Given the description of an element on the screen output the (x, y) to click on. 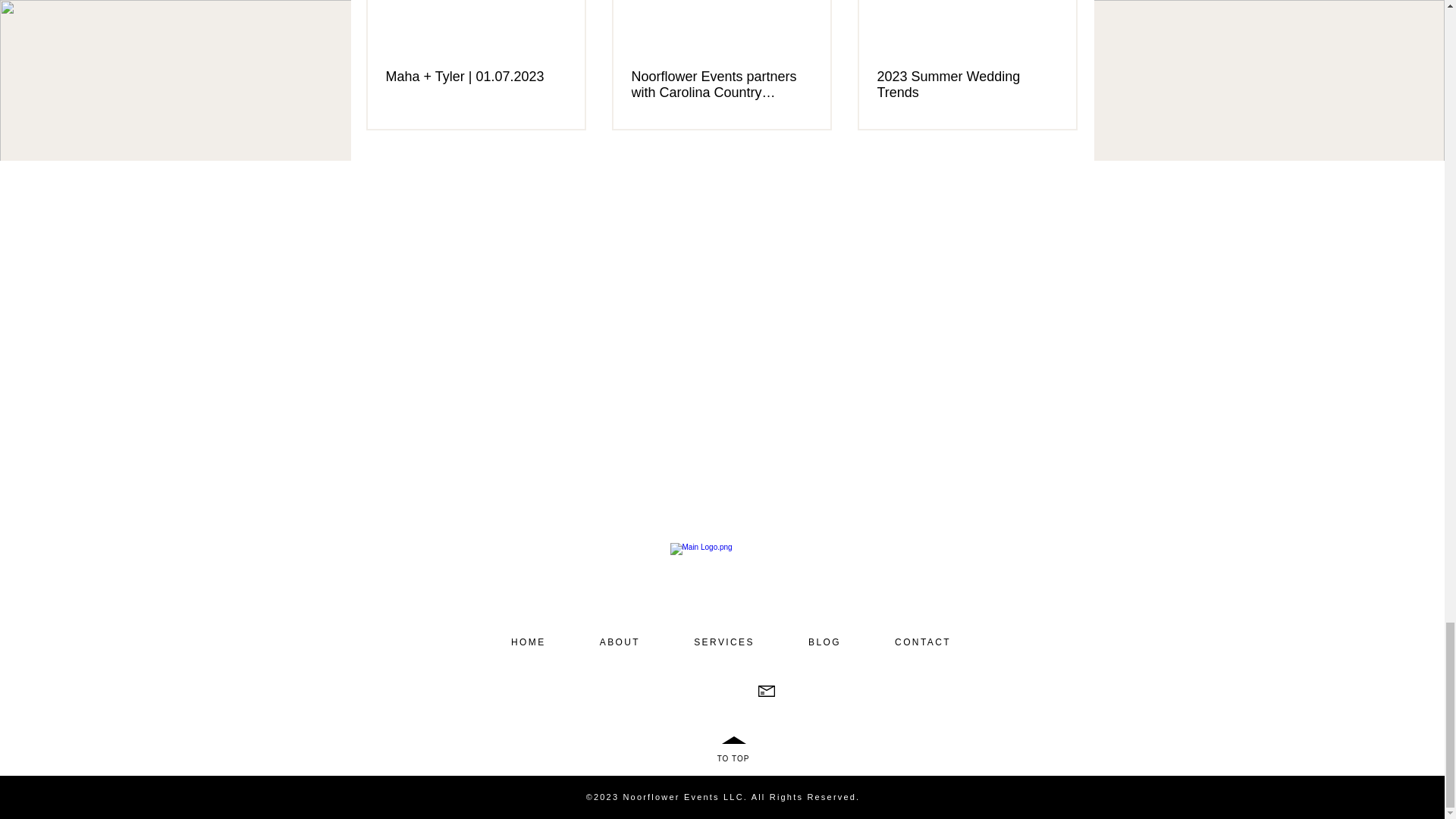
BLOG (824, 642)
HOME (527, 642)
TO TOP (733, 758)
SERVICES (723, 642)
2023 Summer Wedding Trends (966, 84)
ABOUT (619, 642)
CONTACT (922, 642)
